Given the description of an element on the screen output the (x, y) to click on. 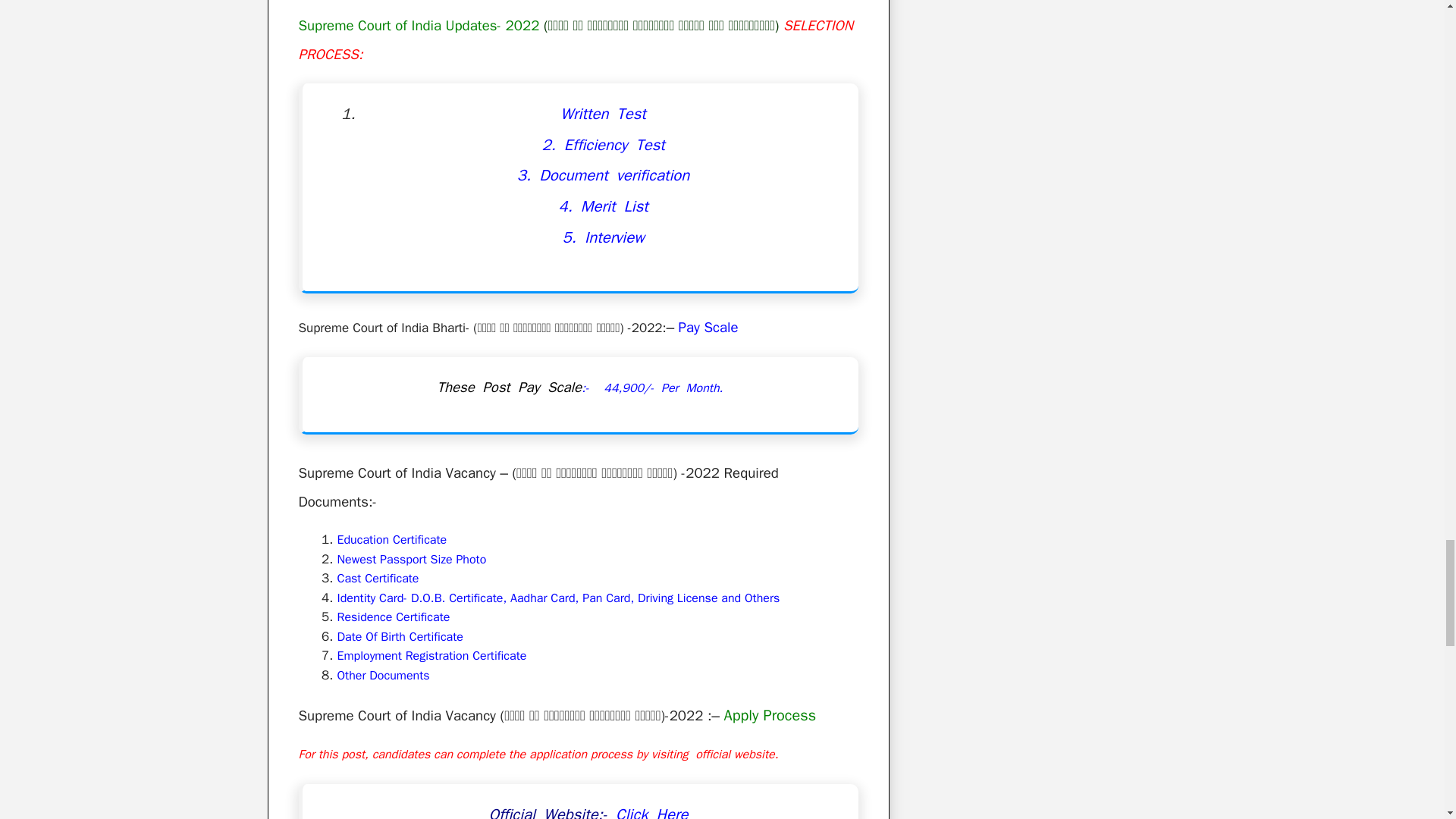
Click Here (647, 811)
